Given the description of an element on the screen output the (x, y) to click on. 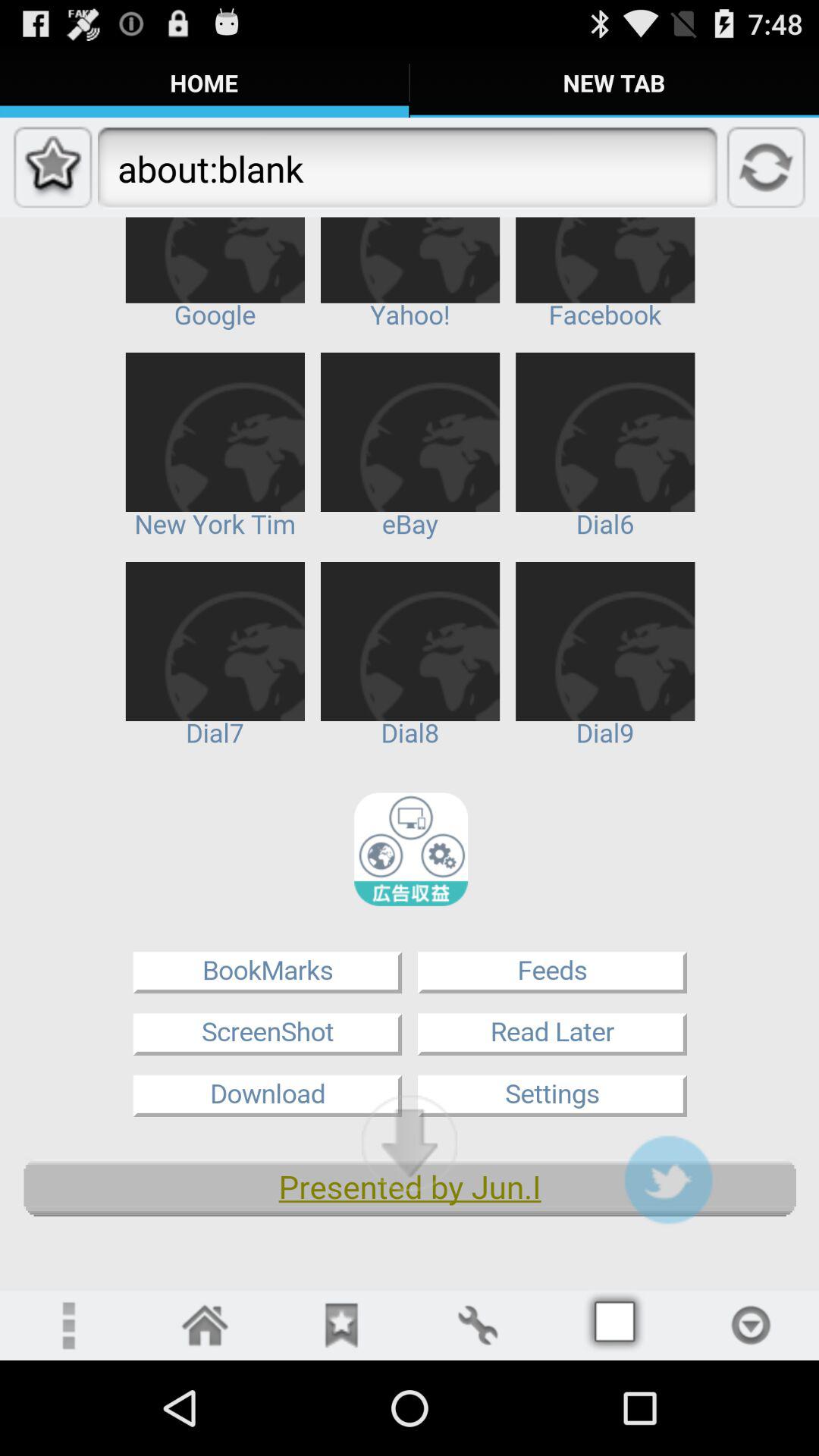
menu (614, 1325)
